Given the description of an element on the screen output the (x, y) to click on. 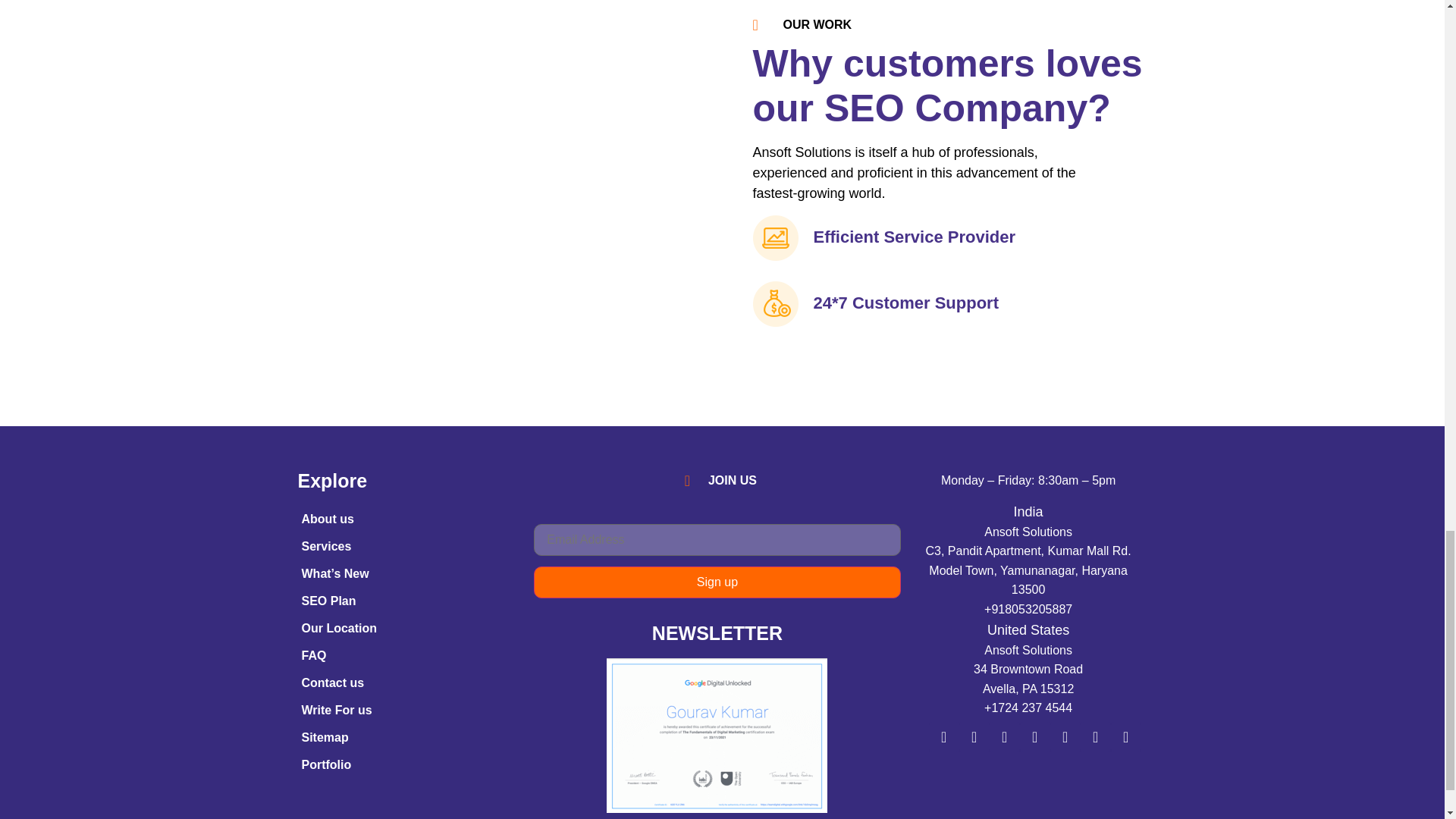
Our Location (407, 628)
FAQ (407, 655)
Write For us (407, 709)
Contact us (407, 682)
Portfolio (407, 764)
About us (407, 519)
Sitemap (407, 737)
Services (407, 546)
Sign up (716, 582)
Sign up (716, 582)
SEO Plan (407, 601)
